Given the description of an element on the screen output the (x, y) to click on. 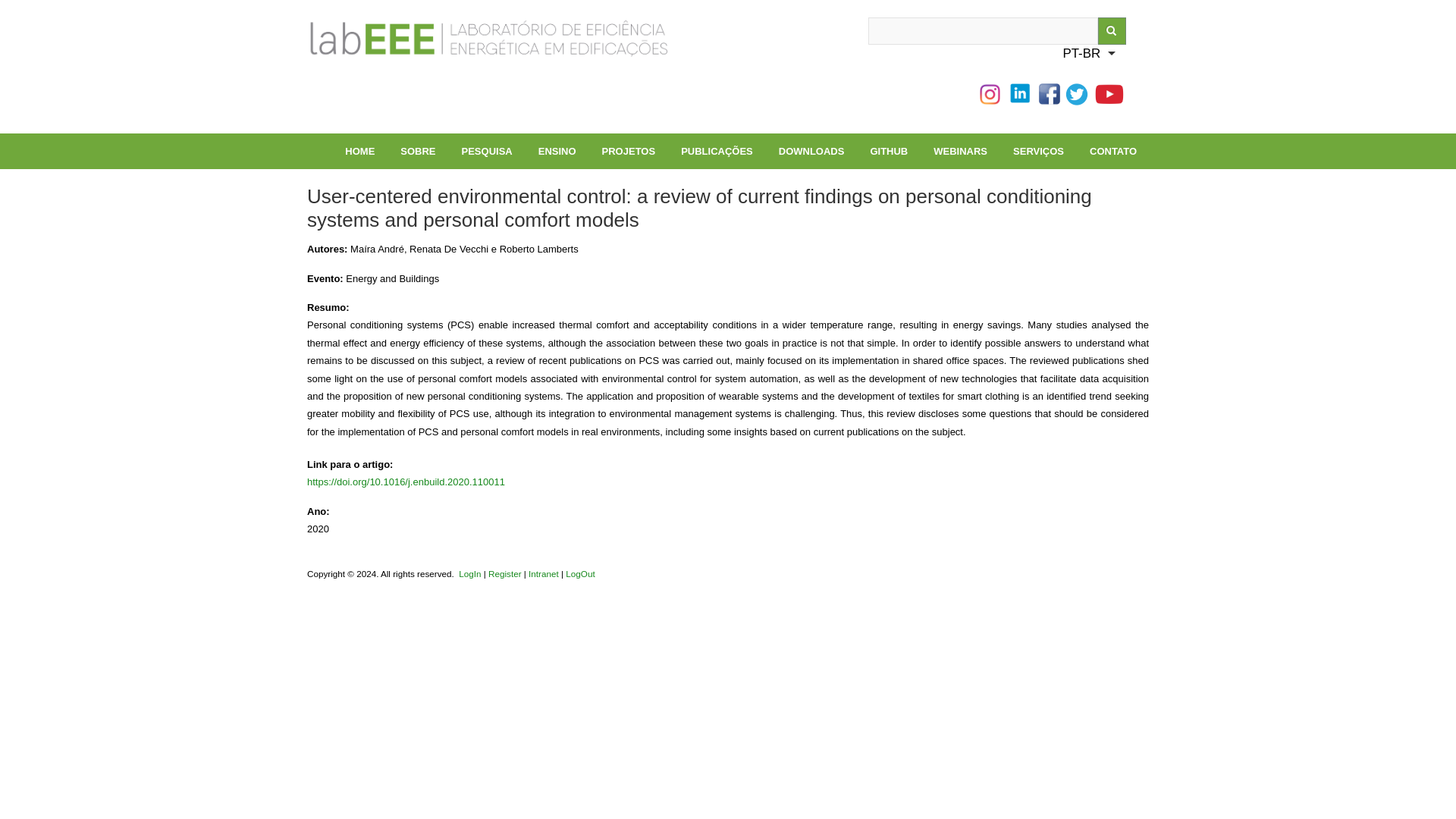
HOME (359, 150)
Search (1111, 31)
ENSINO (557, 150)
Search (1111, 31)
